Given the description of an element on the screen output the (x, y) to click on. 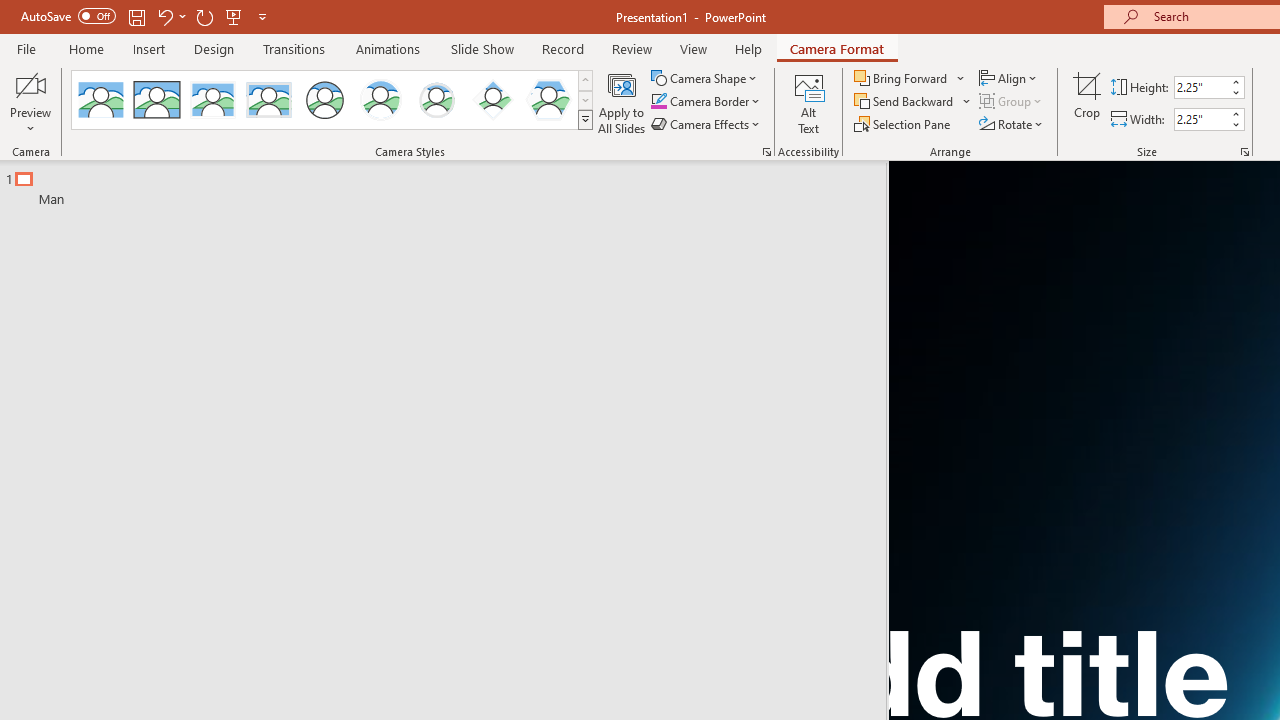
Camera Effects (706, 124)
Camera Styles (585, 120)
Bring Forward (910, 78)
Align (1009, 78)
Center Shadow Rectangle (212, 100)
No Style (100, 100)
Send Backward (905, 101)
Camera Shape (705, 78)
